Given the description of an element on the screen output the (x, y) to click on. 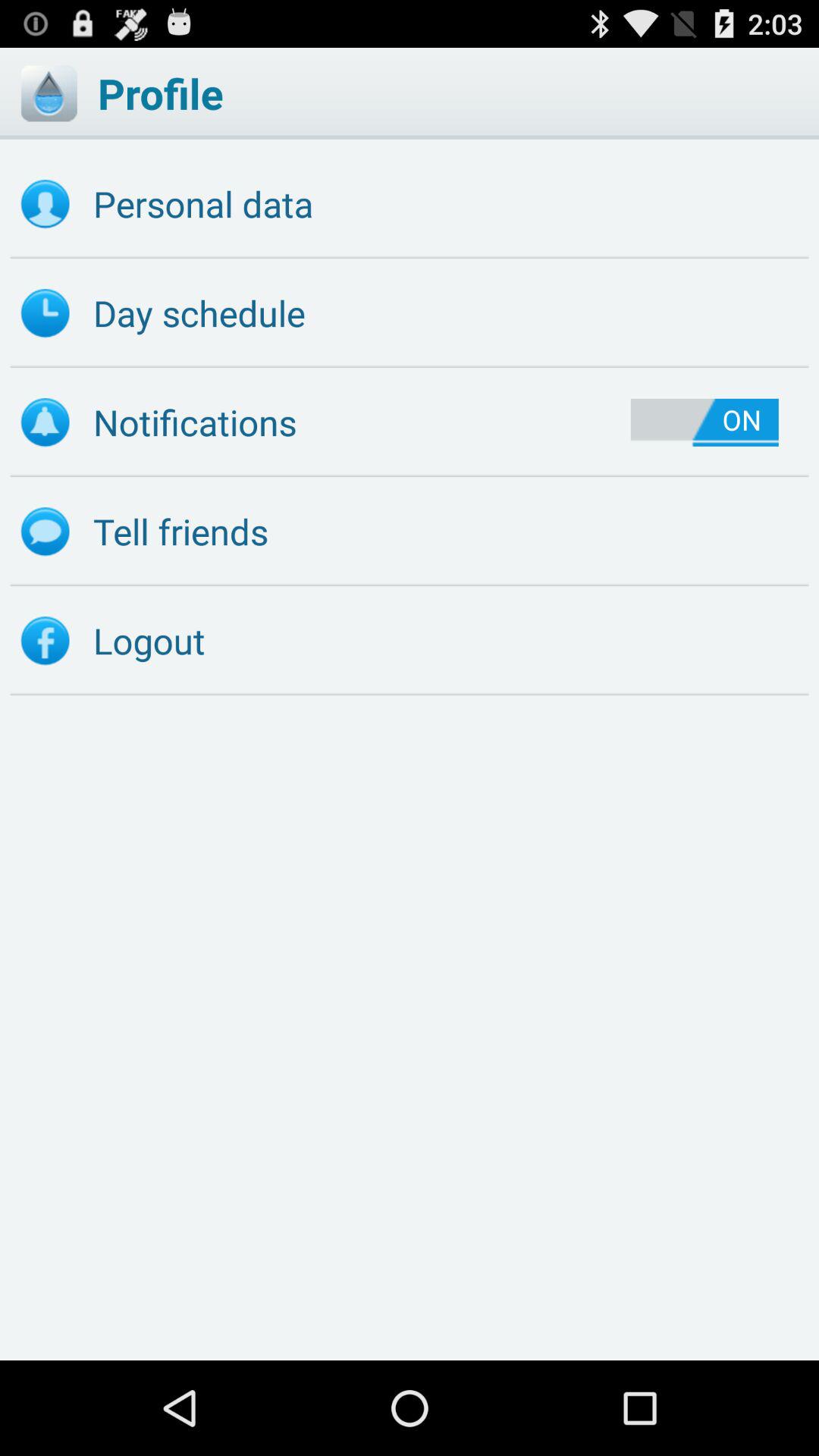
open the icon next to on item (325, 422)
